Given the description of an element on the screen output the (x, y) to click on. 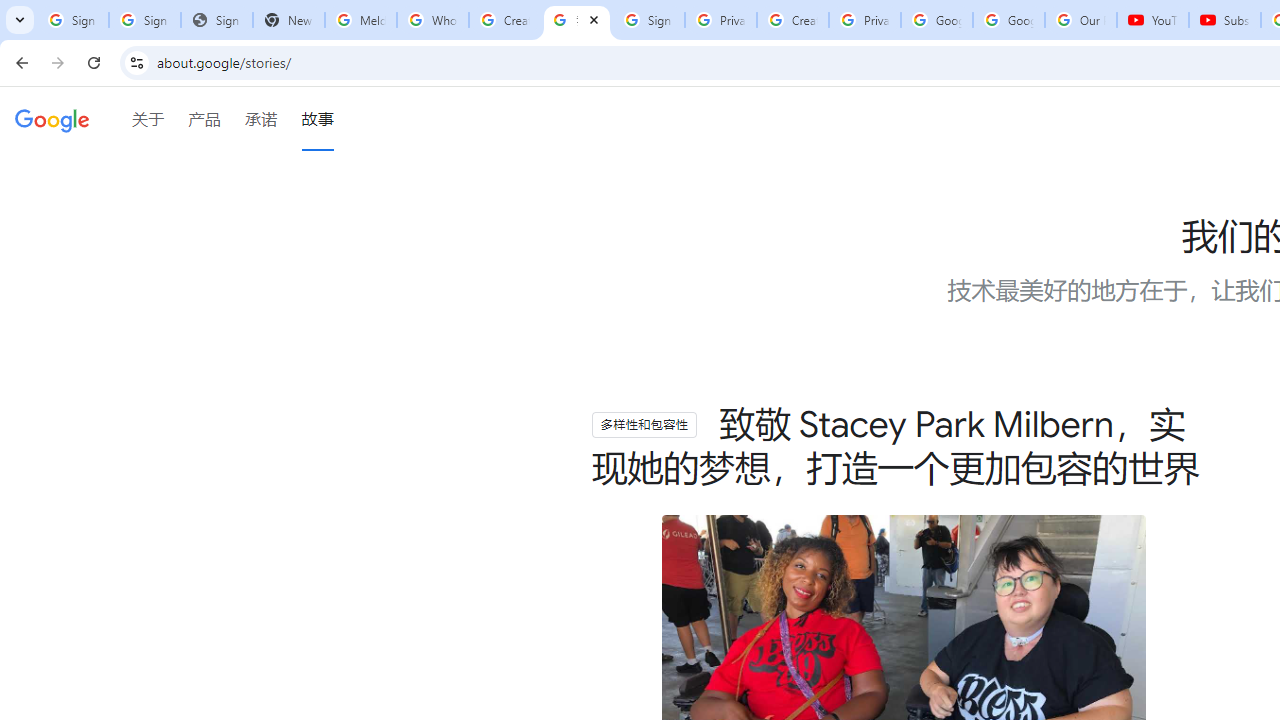
Create your Google Account (504, 20)
YouTube (1153, 20)
Sign in - Google Accounts (648, 20)
Sign in - Google Accounts (72, 20)
Subscriptions - YouTube (1224, 20)
